Given the description of an element on the screen output the (x, y) to click on. 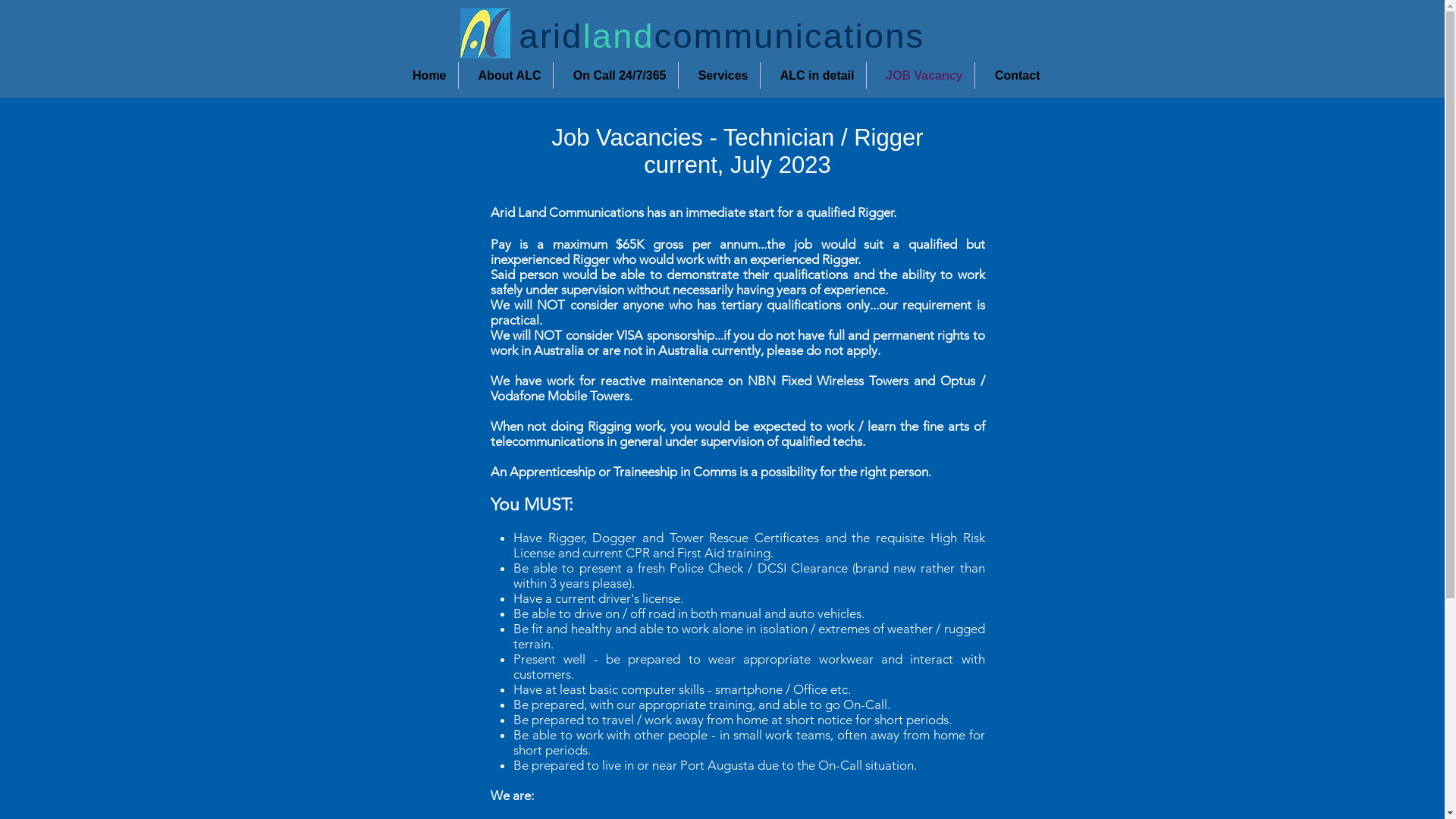
Contact Element type: text (1013, 75)
JOB Vacancy Element type: text (919, 75)
On Call 24/7/365 Element type: text (615, 75)
Services Element type: text (718, 75)
arid Element type: text (551, 35)
communications Element type: text (789, 35)
ALC in detail Element type: text (812, 75)
land Element type: text (618, 35)
Home Element type: text (424, 75)
About ALC Element type: text (505, 75)
